Given the description of an element on the screen output the (x, y) to click on. 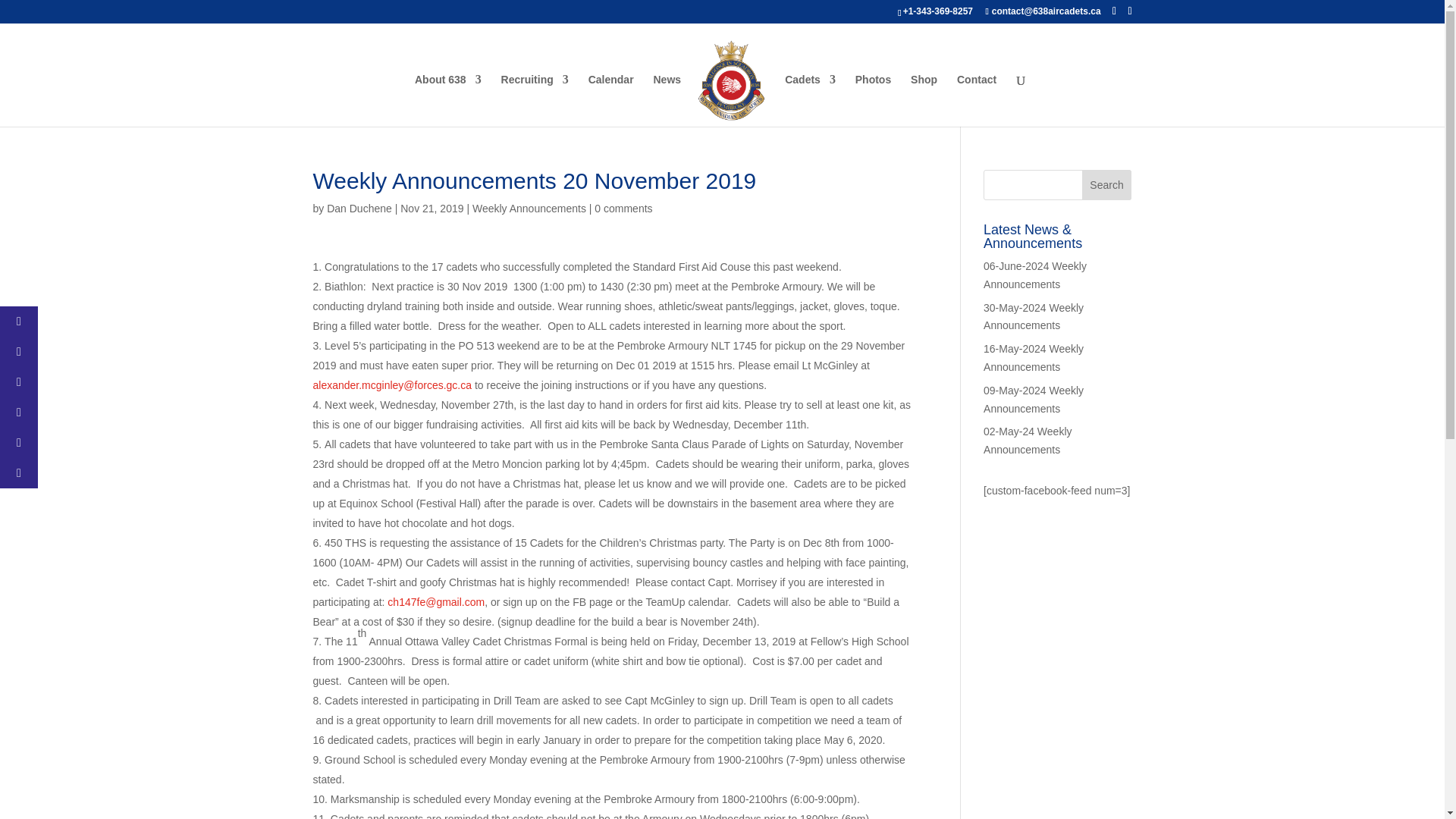
Posts by Dan Duchene (358, 208)
Recruiting (534, 100)
About 638 (447, 100)
Cadets (809, 100)
Search (1106, 184)
